Given the description of an element on the screen output the (x, y) to click on. 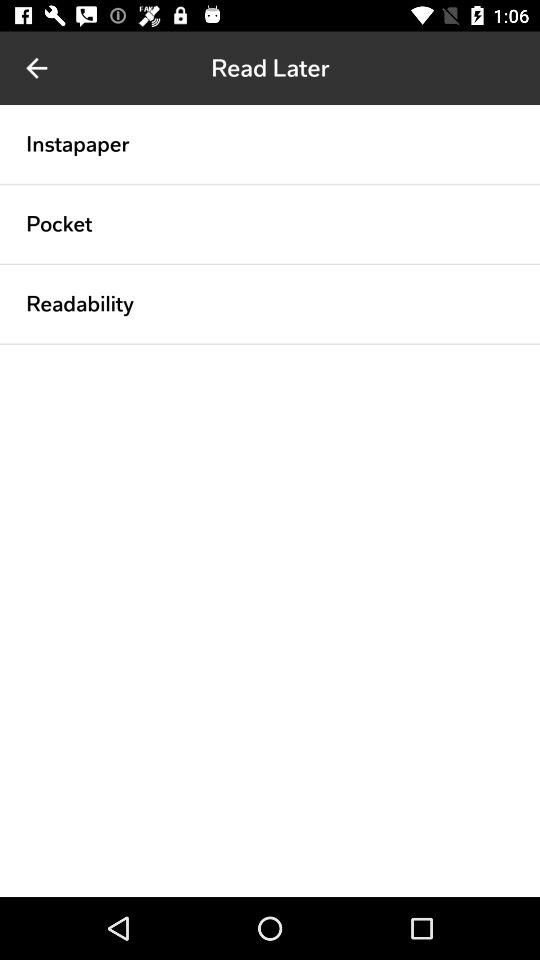
launch the icon above instapaper icon (36, 68)
